Given the description of an element on the screen output the (x, y) to click on. 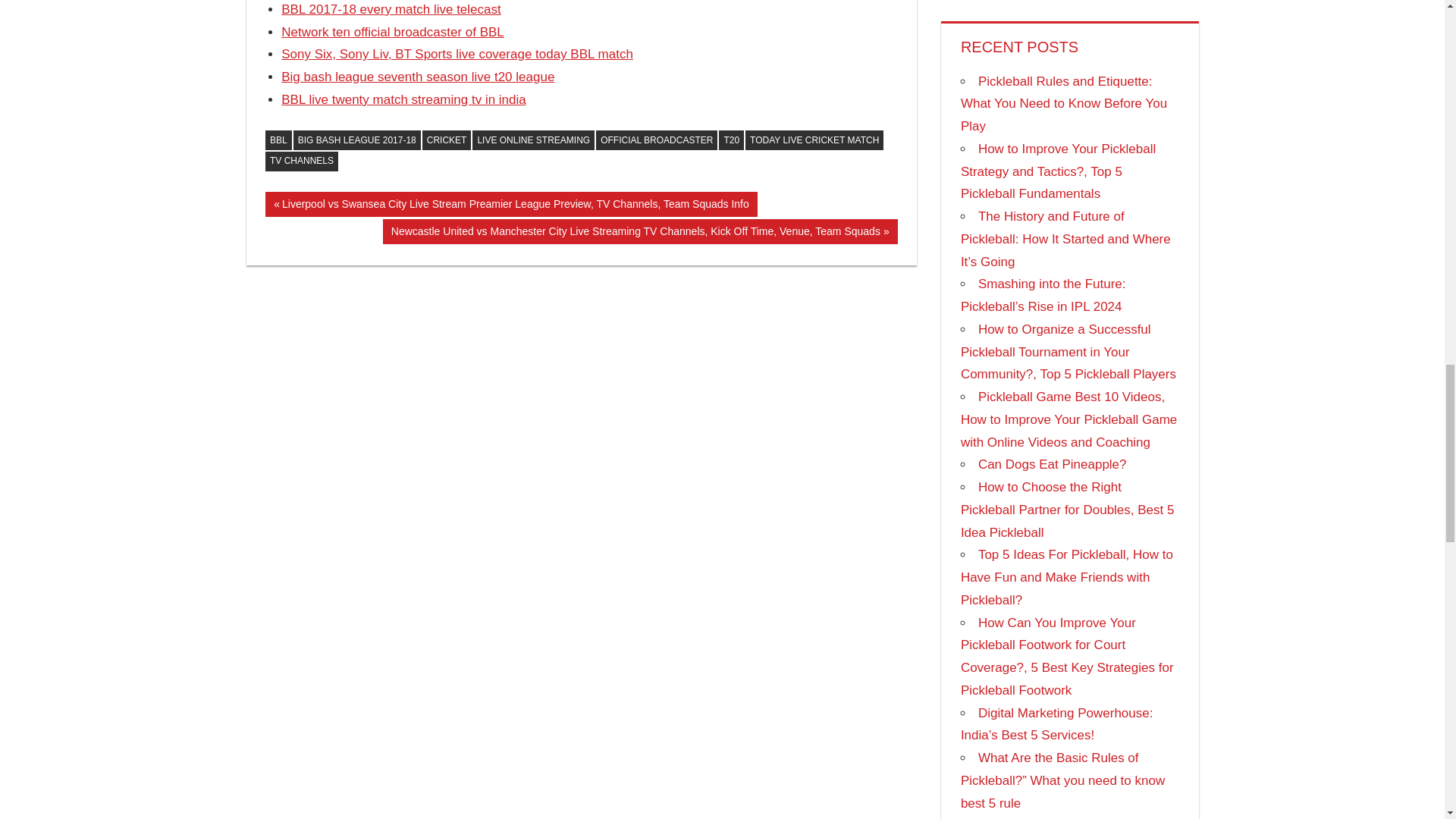
BBL live twenty match streaming tv in india (403, 99)
BBL (278, 139)
Big bash league seventh season live t20 league (417, 76)
Sony Six, Sony Liv, BT Sports live coverage today BBL match (457, 53)
BBL 2017-18 every match live telecast (390, 9)
Network ten official broadcaster of BBL (392, 32)
